Given the description of an element on the screen output the (x, y) to click on. 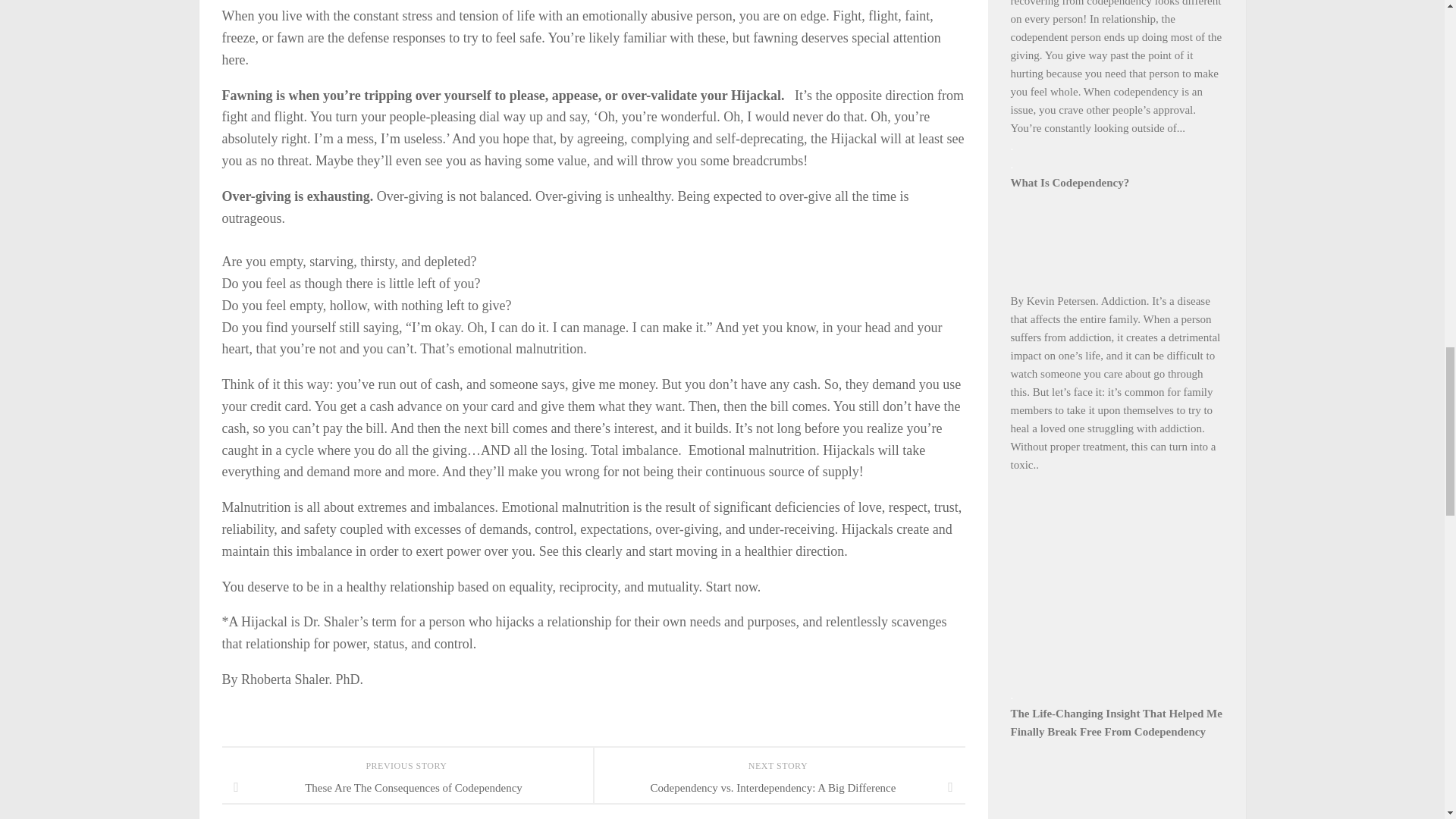
These Are The Consequences of Codependency (406, 787)
Codependency vs. Interdependency: A Big Difference (777, 787)
What Is Codependency? (1069, 182)
